Given the description of an element on the screen output the (x, y) to click on. 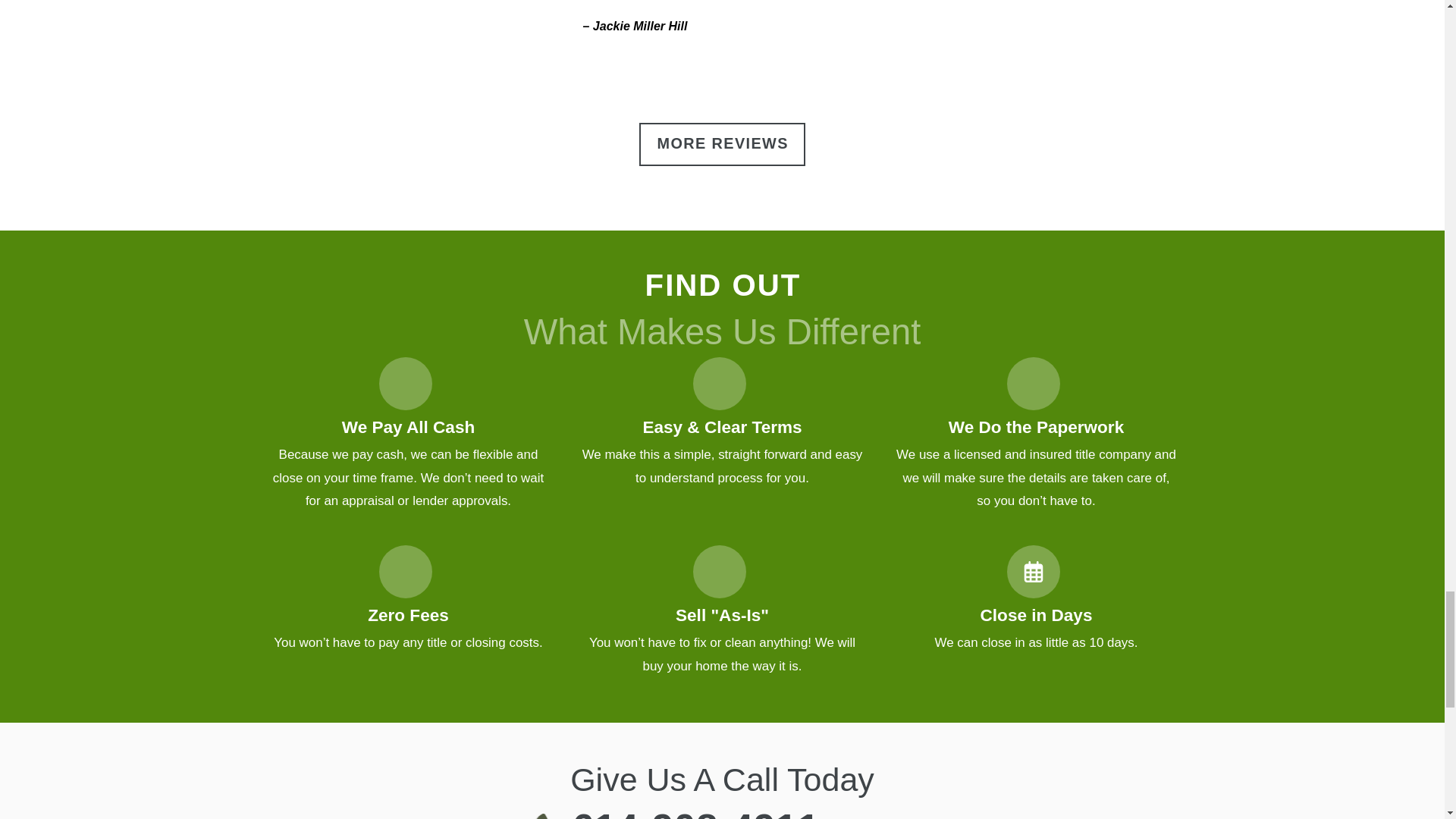
YouTube video player (1037, 40)
MORE REVIEWS (722, 144)
614-908-4911 (695, 812)
YouTube video player (406, 40)
